Given the description of an element on the screen output the (x, y) to click on. 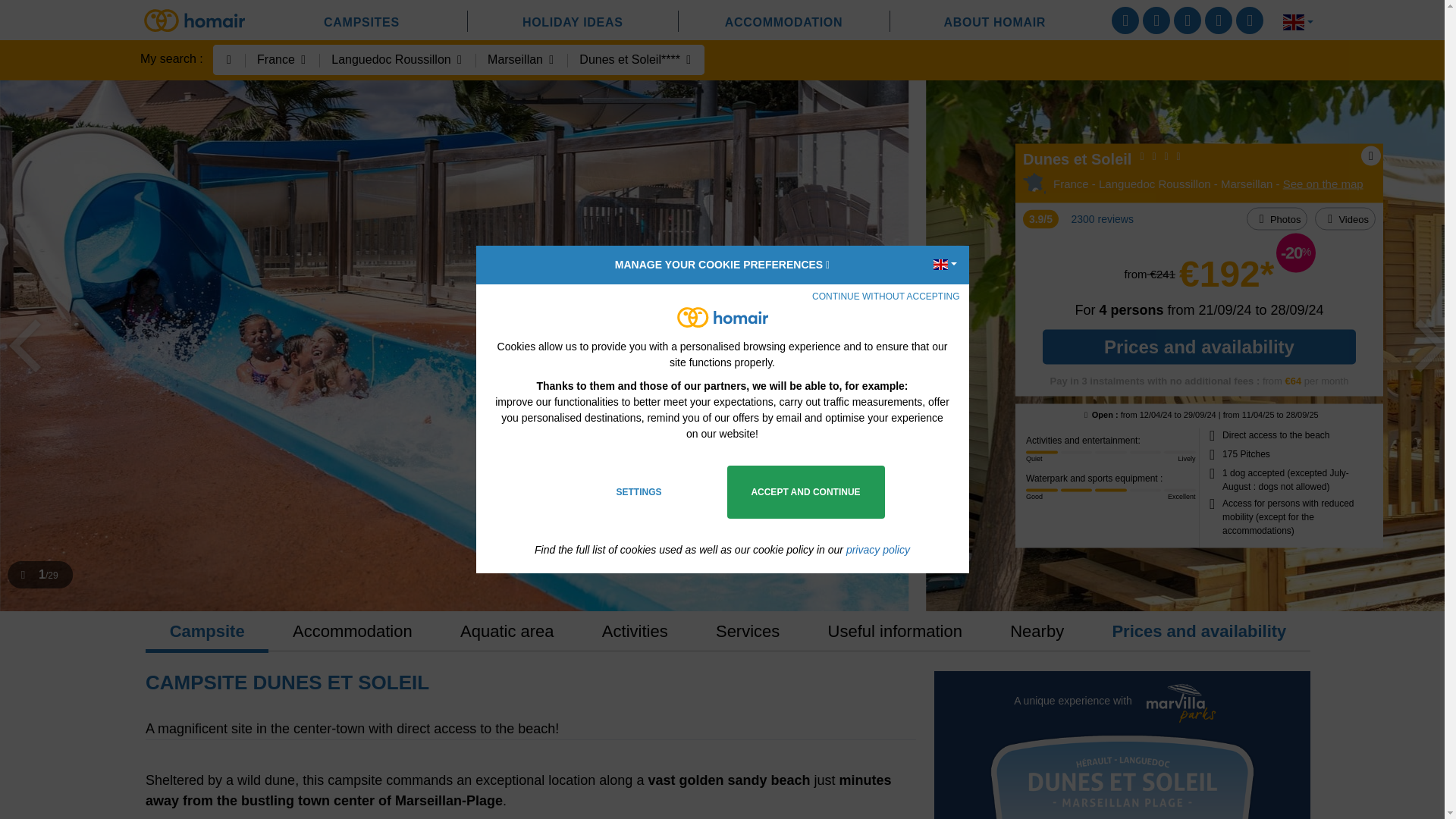
Camping in France (1070, 183)
Camping Languedoc-Roussillon (1155, 183)
Marseillan (1246, 183)
Add to my favorites (1370, 155)
